Given the description of an element on the screen output the (x, y) to click on. 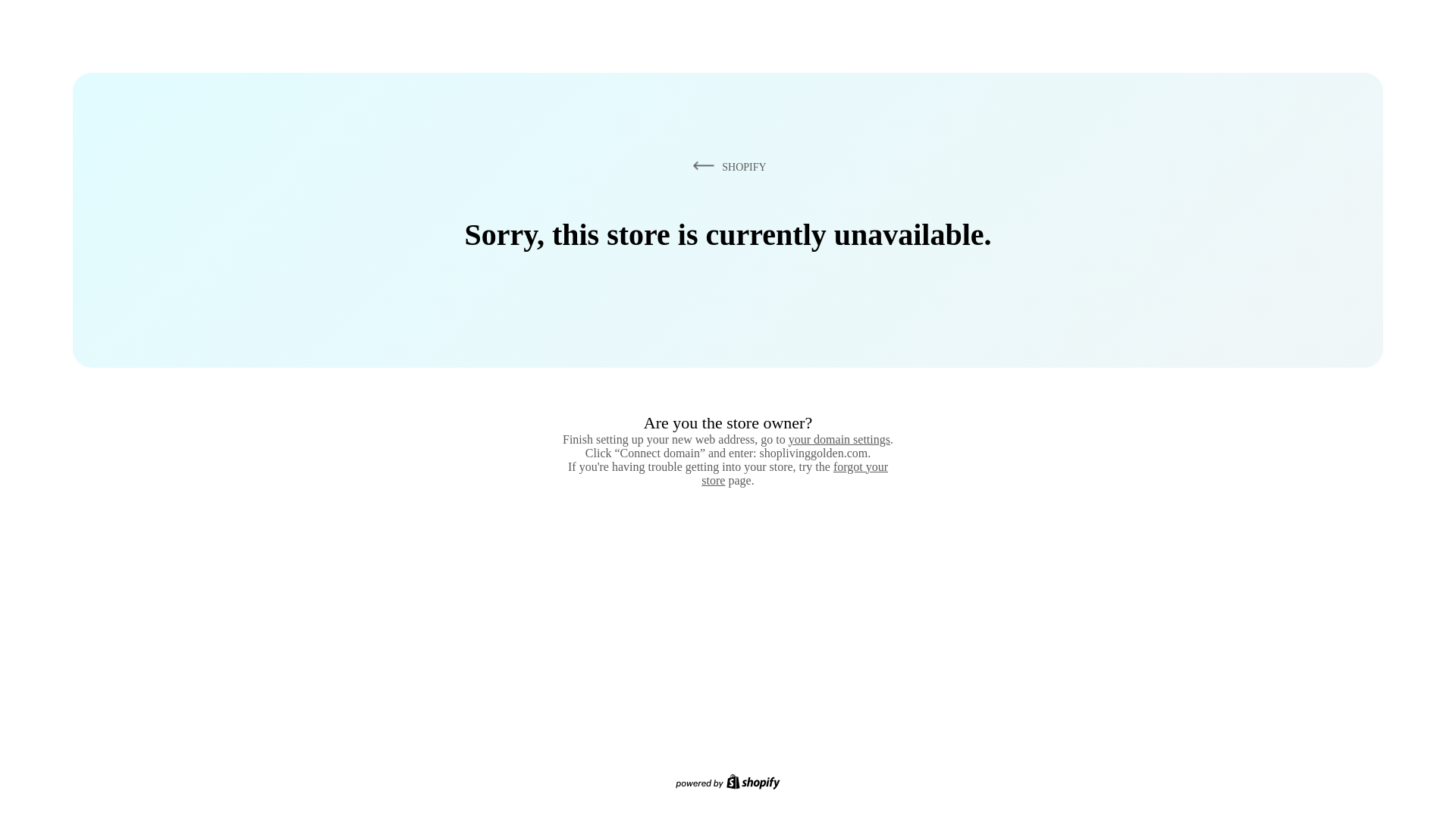
forgot your store (794, 473)
your domain settings (839, 439)
SHOPIFY (726, 166)
